Given the description of an element on the screen output the (x, y) to click on. 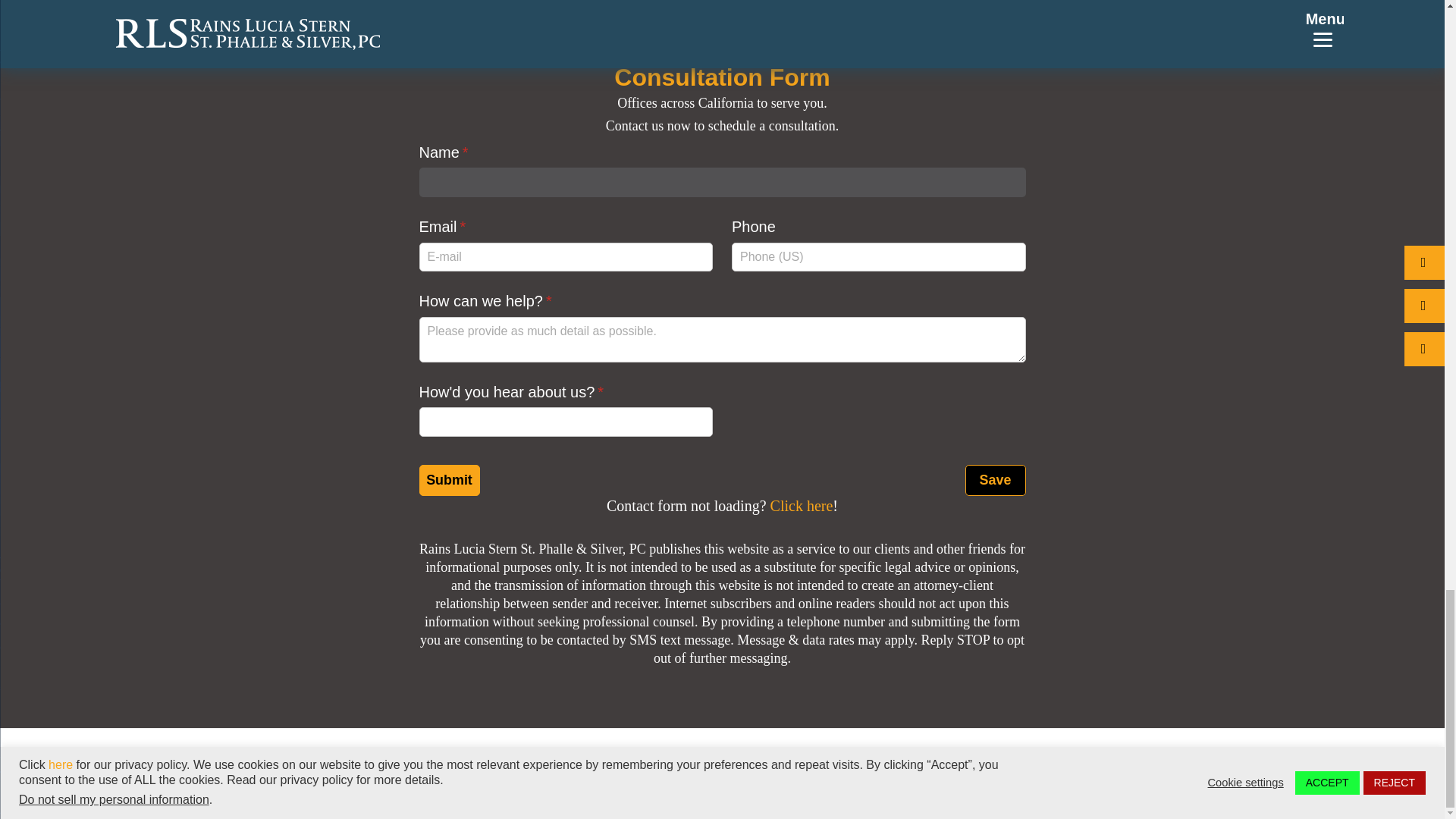
Submit (449, 480)
Privacy Policy (908, 768)
Disclaimer (1003, 768)
Contact form not loading? Click here! (722, 505)
Save (994, 480)
